Given the description of an element on the screen output the (x, y) to click on. 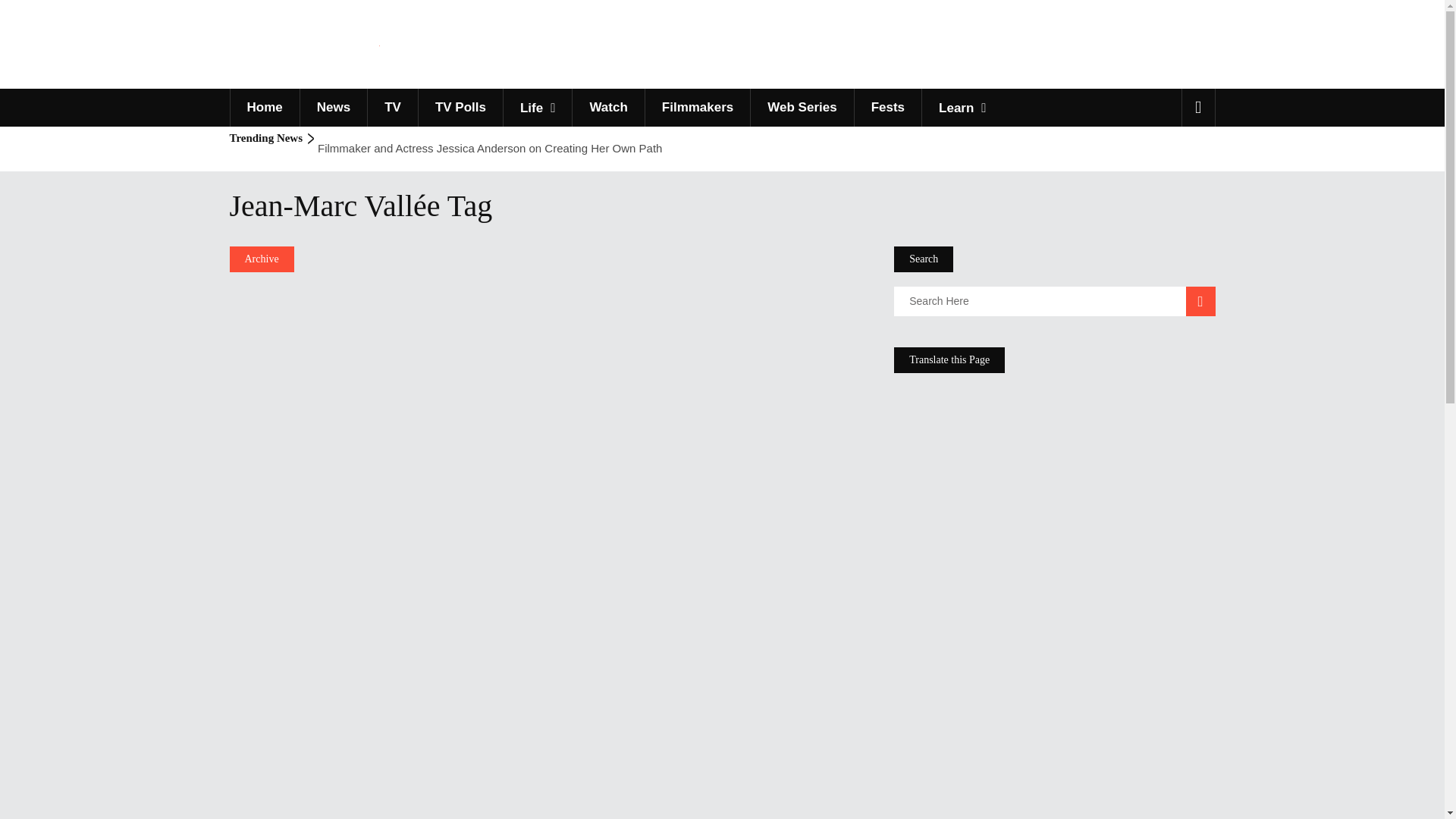
Life (537, 107)
Watch (607, 107)
Filmmakers (698, 107)
Home (263, 107)
TV Polls (459, 107)
Web Series (801, 107)
News (332, 107)
Fests (887, 107)
Learn (962, 107)
TV (391, 107)
